Given the description of an element on the screen output the (x, y) to click on. 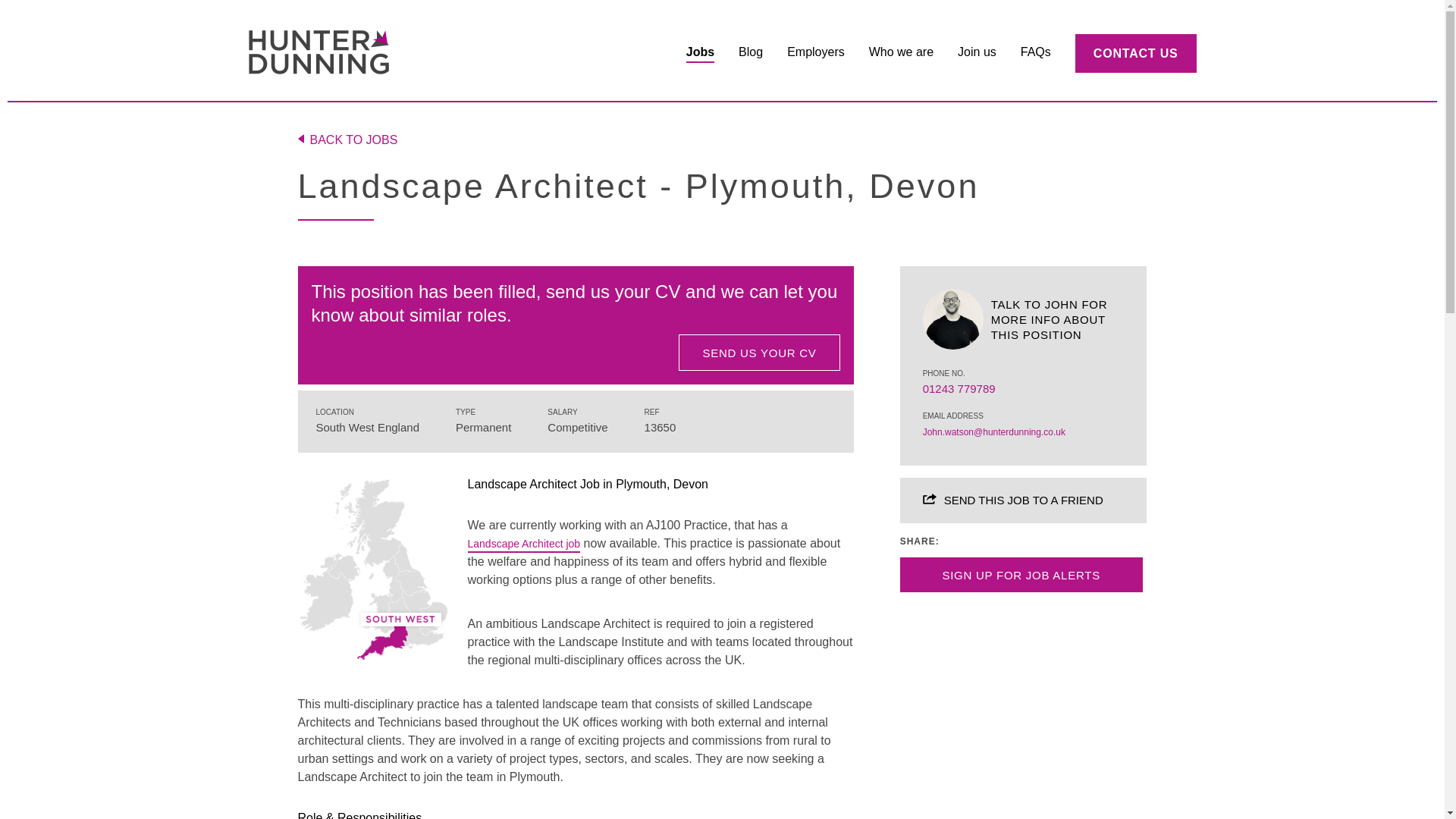
SEND US YOUR CV (759, 352)
CONTACT US (1135, 53)
Jobs (699, 53)
Who we are (901, 53)
FAQs (1035, 53)
Landscape Architect job (523, 545)
Employers (815, 53)
SIGN UP FOR JOB ALERTS (1020, 574)
Blog (750, 53)
01243 779789 (959, 390)
